Given the description of an element on the screen output the (x, y) to click on. 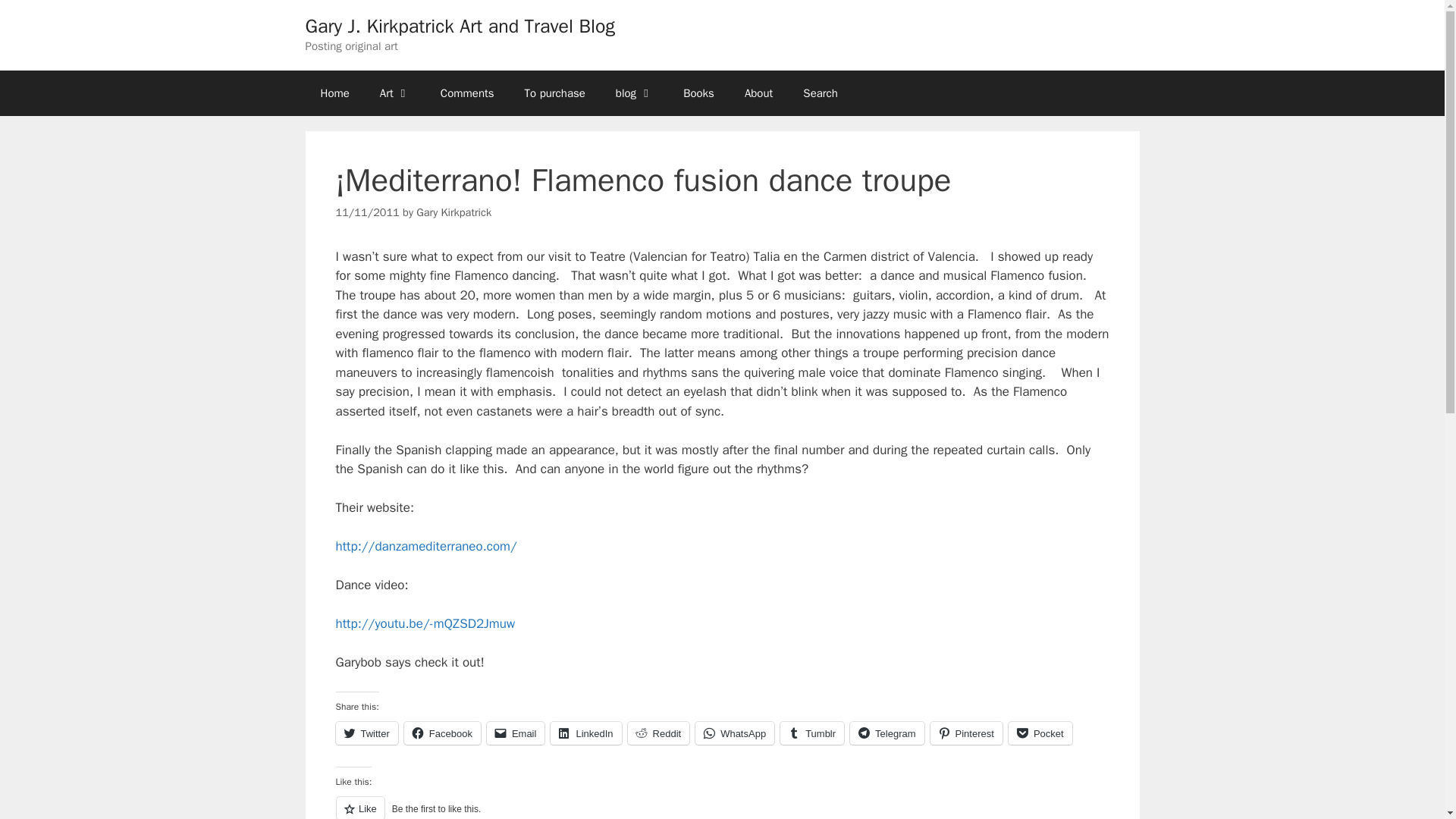
To purchase (554, 92)
Click to share on WhatsApp (734, 732)
Click to email a link to a friend (515, 732)
Click to share on Facebook (442, 732)
Mediterraneo Flamenco Fusion Dance (424, 623)
Click to share on Telegram (886, 732)
Click to share on LinkedIn (585, 732)
Gary J. Kirkpatrick Art and Travel Blog (459, 25)
Click to share on Tumblr (812, 732)
blog (633, 92)
